Given the description of an element on the screen output the (x, y) to click on. 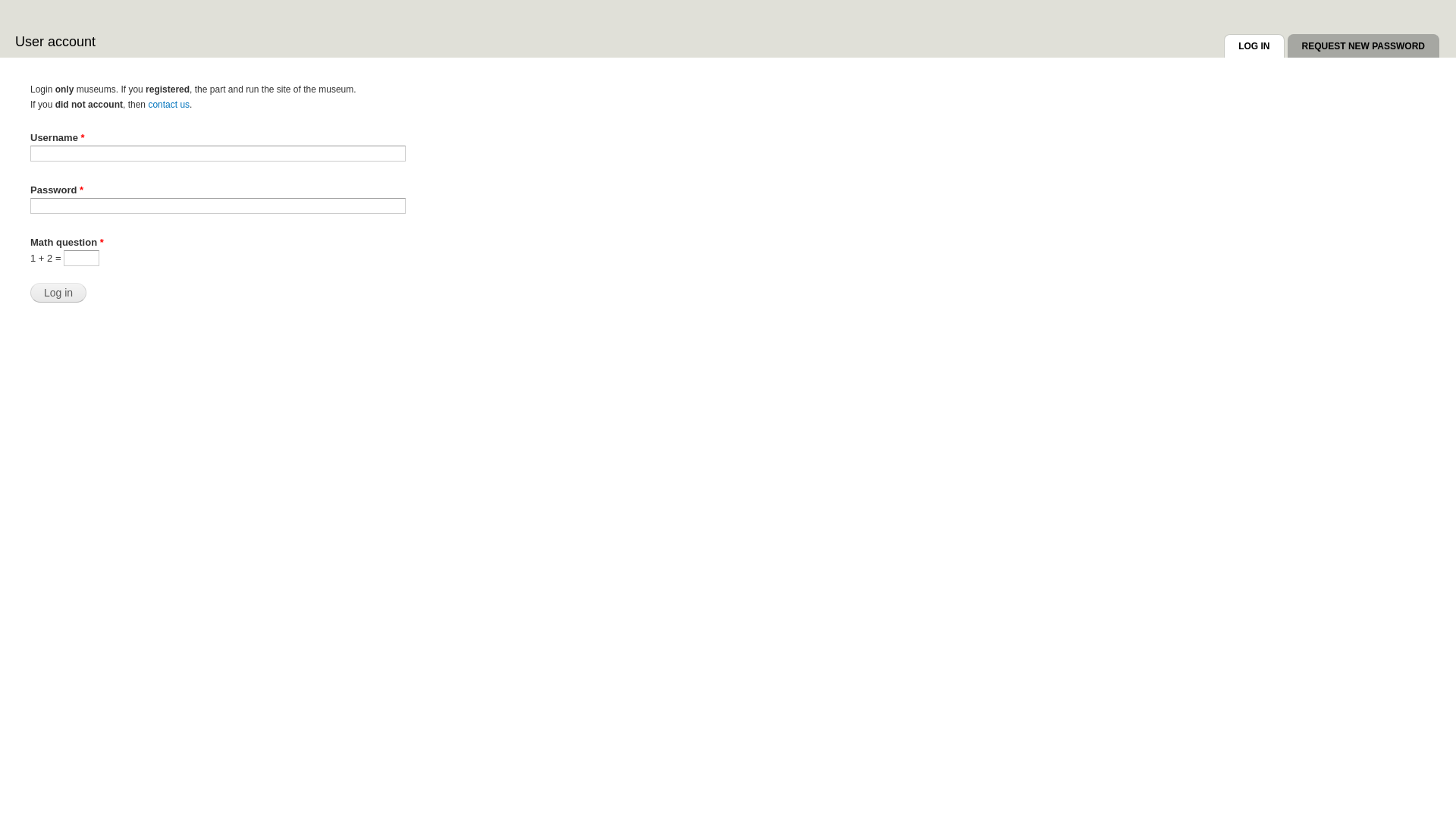
LOG IN
(ACTIVE TAB) Element type: text (1253, 49)
REQUEST NEW PASSWORD Element type: text (1363, 49)
Skip to main content Element type: text (698, 1)
contact us Element type: text (168, 104)
Log in Element type: text (58, 292)
